Given the description of an element on the screen output the (x, y) to click on. 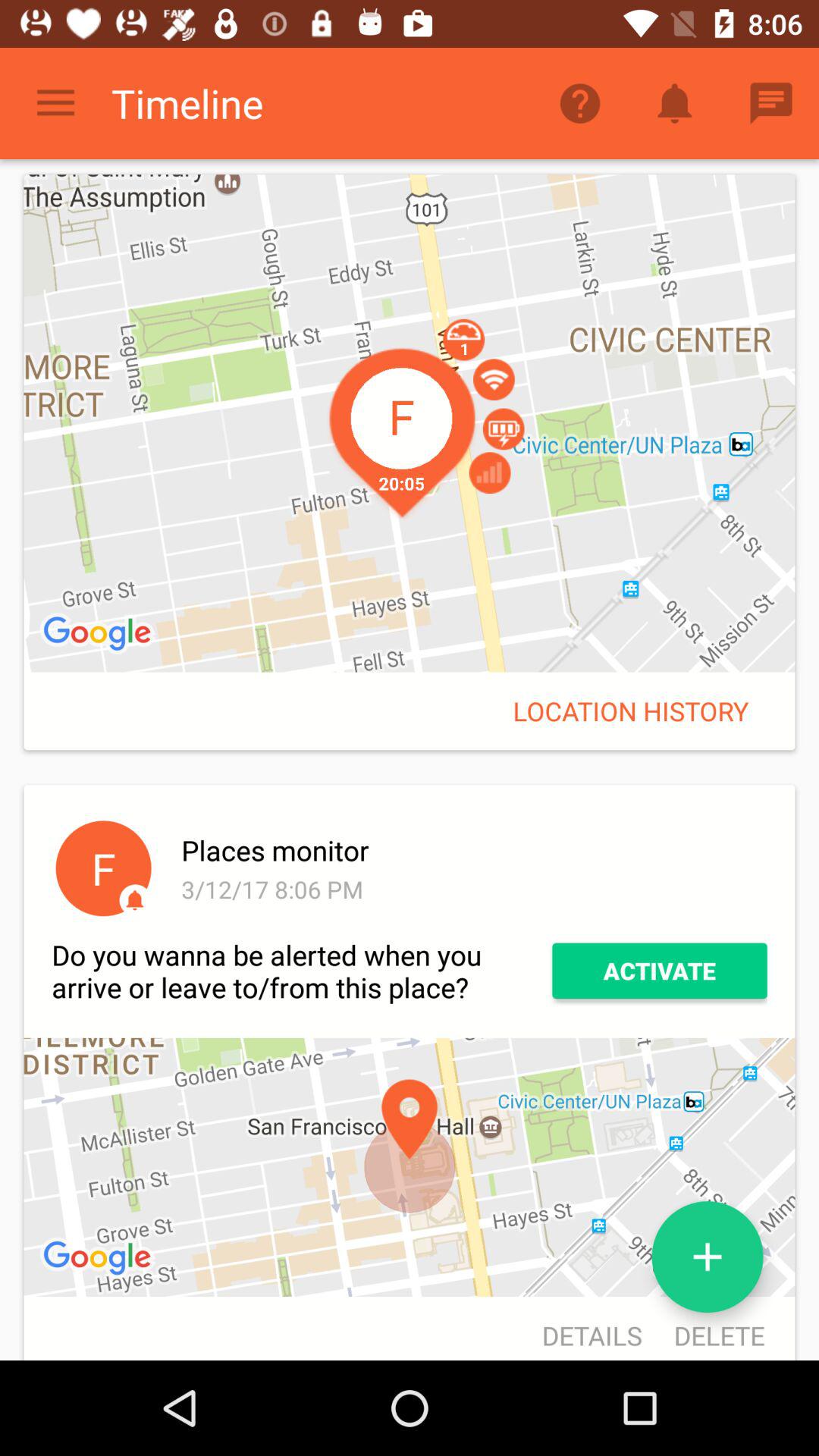
open details (592, 1330)
